Given the description of an element on the screen output the (x, y) to click on. 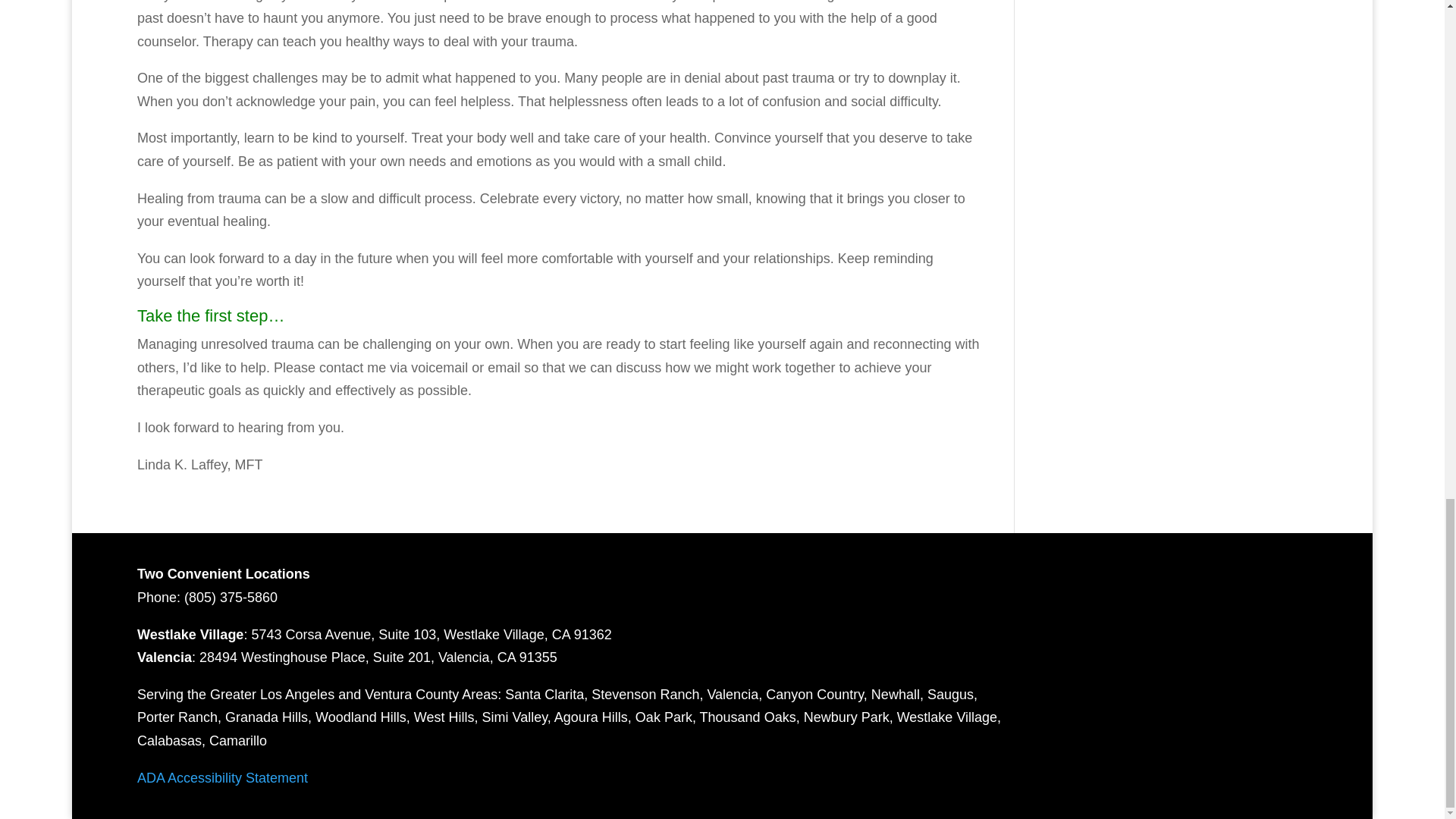
ADA Accessibility Statement (221, 777)
0538ad68-d11e-48fd-8c32-09a833e80200 (1174, 662)
